Given the description of an element on the screen output the (x, y) to click on. 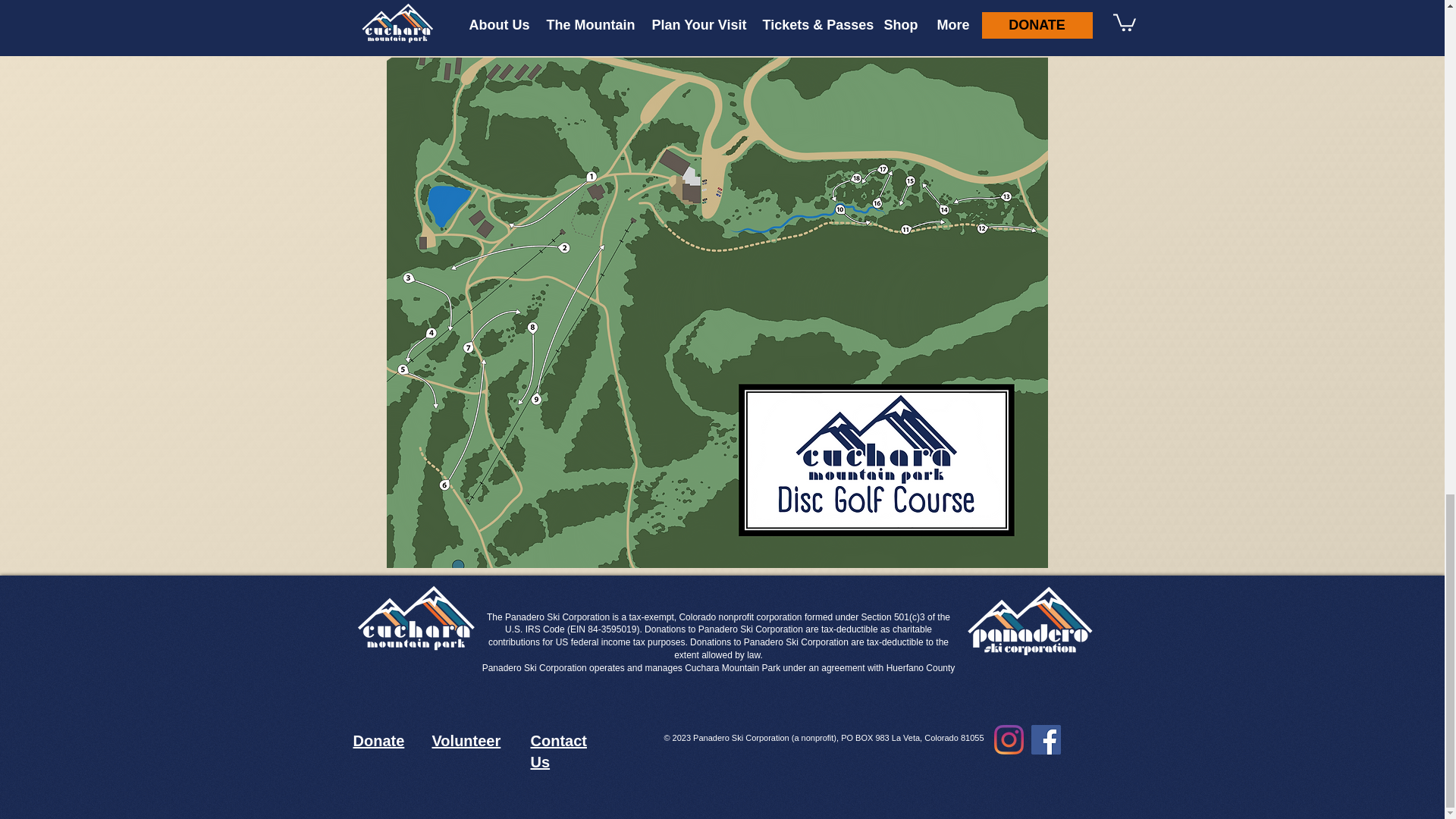
Contact Us (558, 751)
Donate (378, 740)
Volunteer (466, 740)
Cuchara Mountain Park is on UDisc! (469, 15)
